Given the description of an element on the screen output the (x, y) to click on. 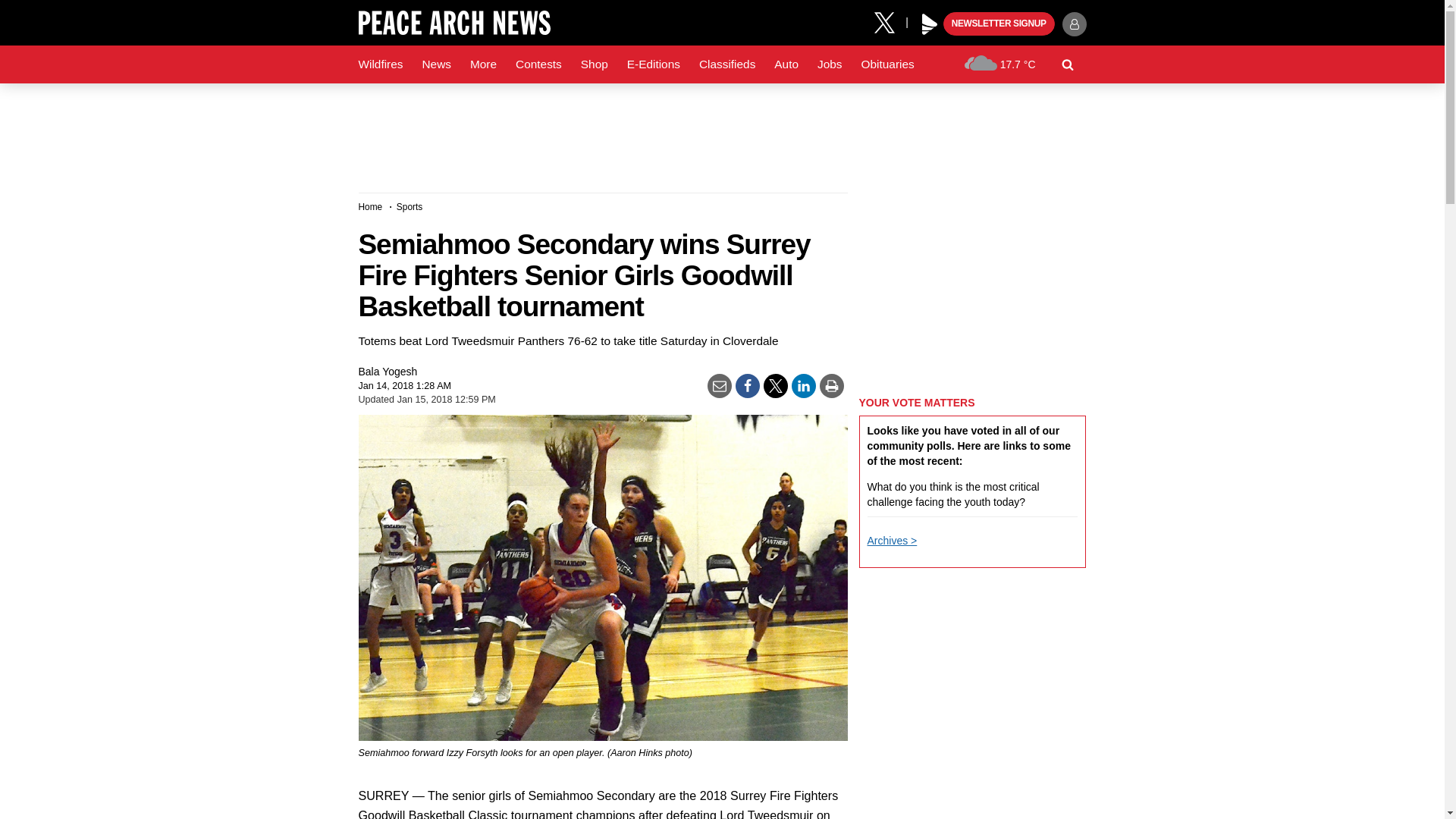
Play (929, 24)
NEWSLETTER SIGNUP (998, 24)
Black Press Media (929, 24)
News (435, 64)
Wildfires (380, 64)
X (889, 21)
